Given the description of an element on the screen output the (x, y) to click on. 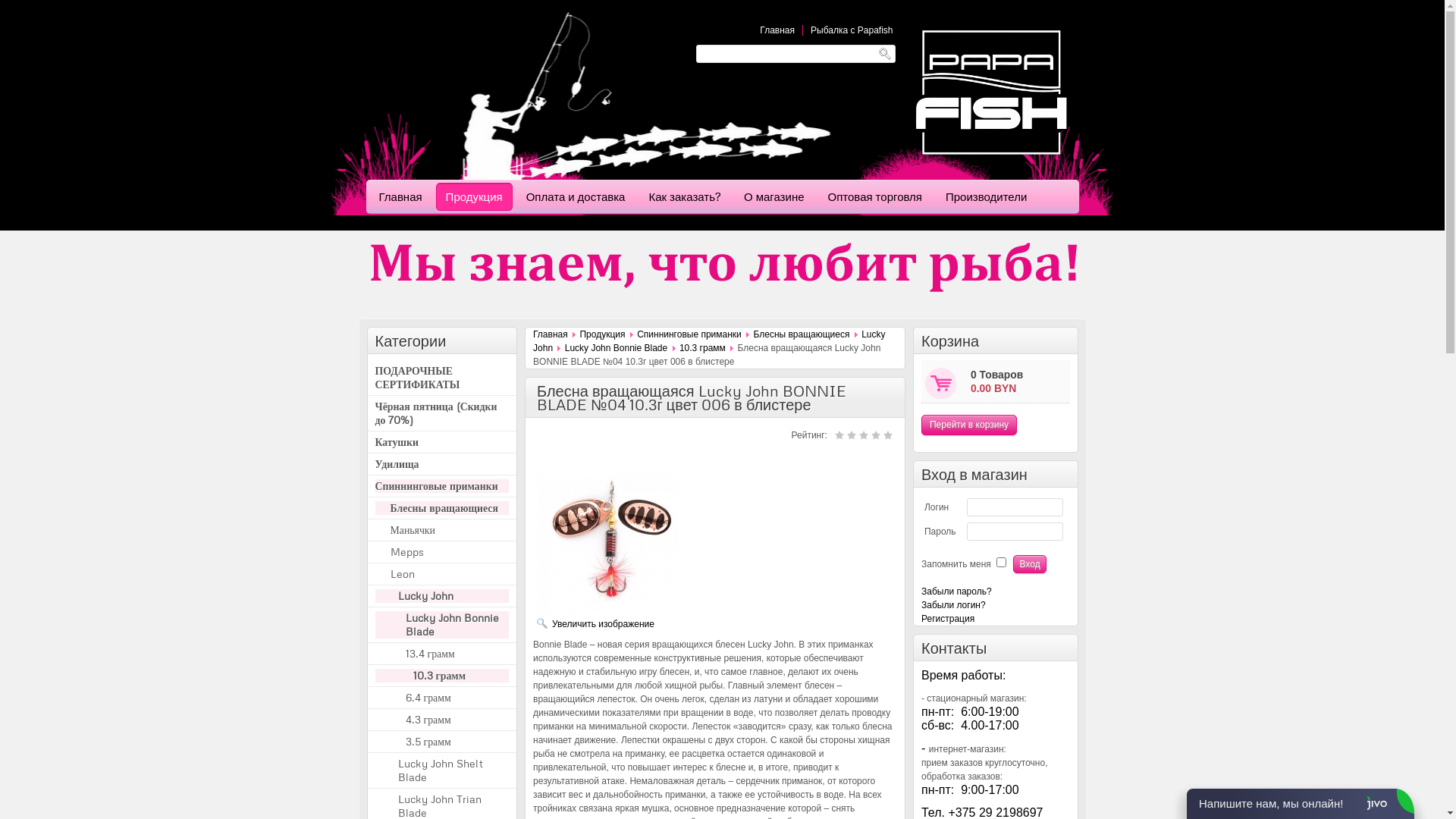
Lucky John Shelt Blade Element type: text (452, 770)
Lucky John Element type: text (441, 595)
Lucky John Element type: text (709, 341)
Lucky John Bonnie Blade Element type: text (615, 347)
Lucky John Bonnie Blade Element type: text (441, 624)
Leon Element type: text (448, 573)
Mepps Element type: text (448, 551)
